Given the description of an element on the screen output the (x, y) to click on. 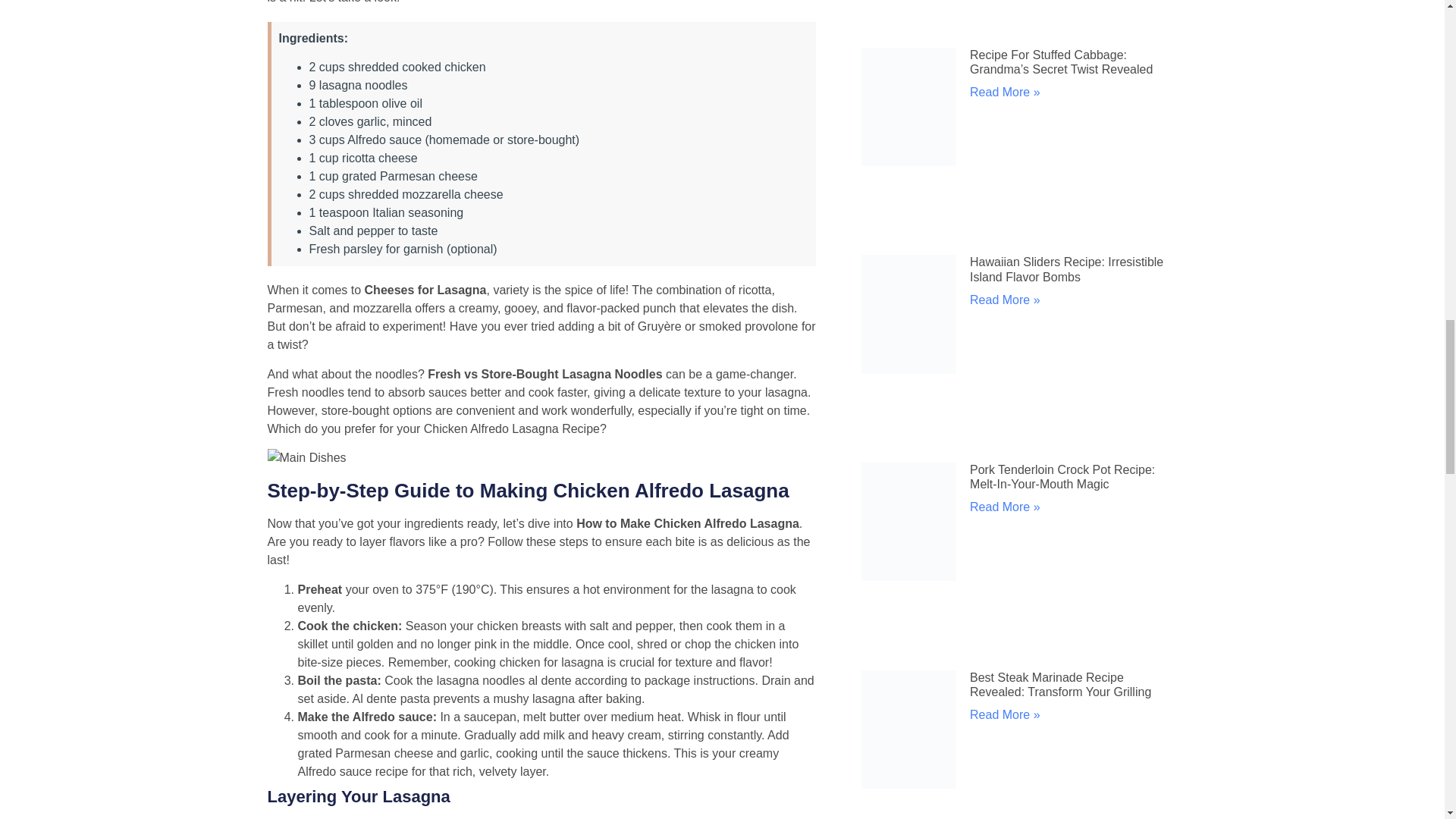
Ingredients for Chicken Alfredo Lasagna (306, 457)
